Given the description of an element on the screen output the (x, y) to click on. 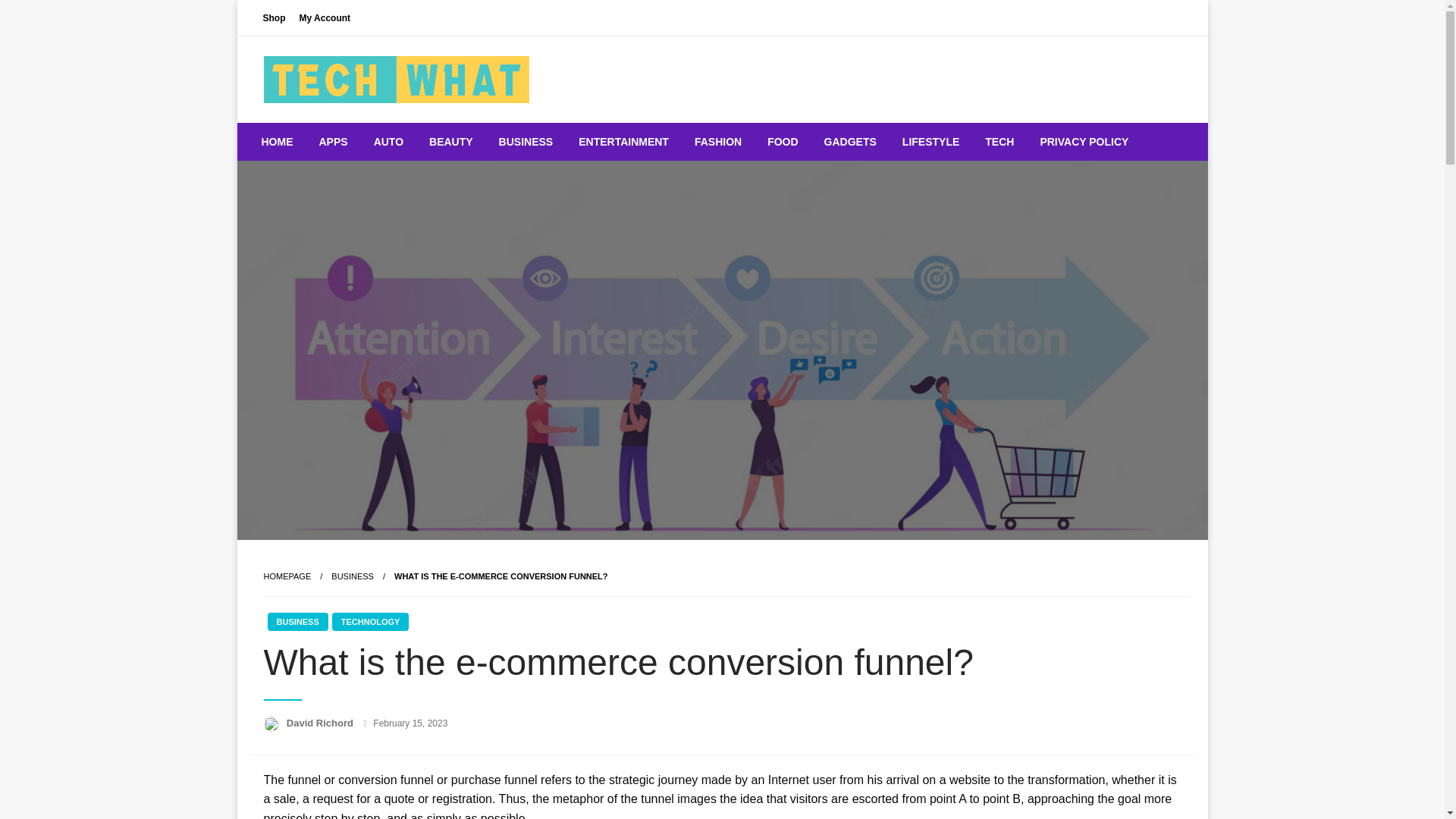
APPS (333, 141)
HOMEPAGE (287, 575)
FASHION (717, 141)
GADGETS (849, 141)
Business (352, 575)
TECHNOLOGY (370, 621)
ENTERTAINMENT (623, 141)
BUSINESS (352, 575)
My Account (325, 17)
FOOD (782, 141)
AUTO (388, 141)
BUSINESS (526, 141)
David Richord (321, 722)
BEAUTY (451, 141)
David Richord (321, 722)
